Given the description of an element on the screen output the (x, y) to click on. 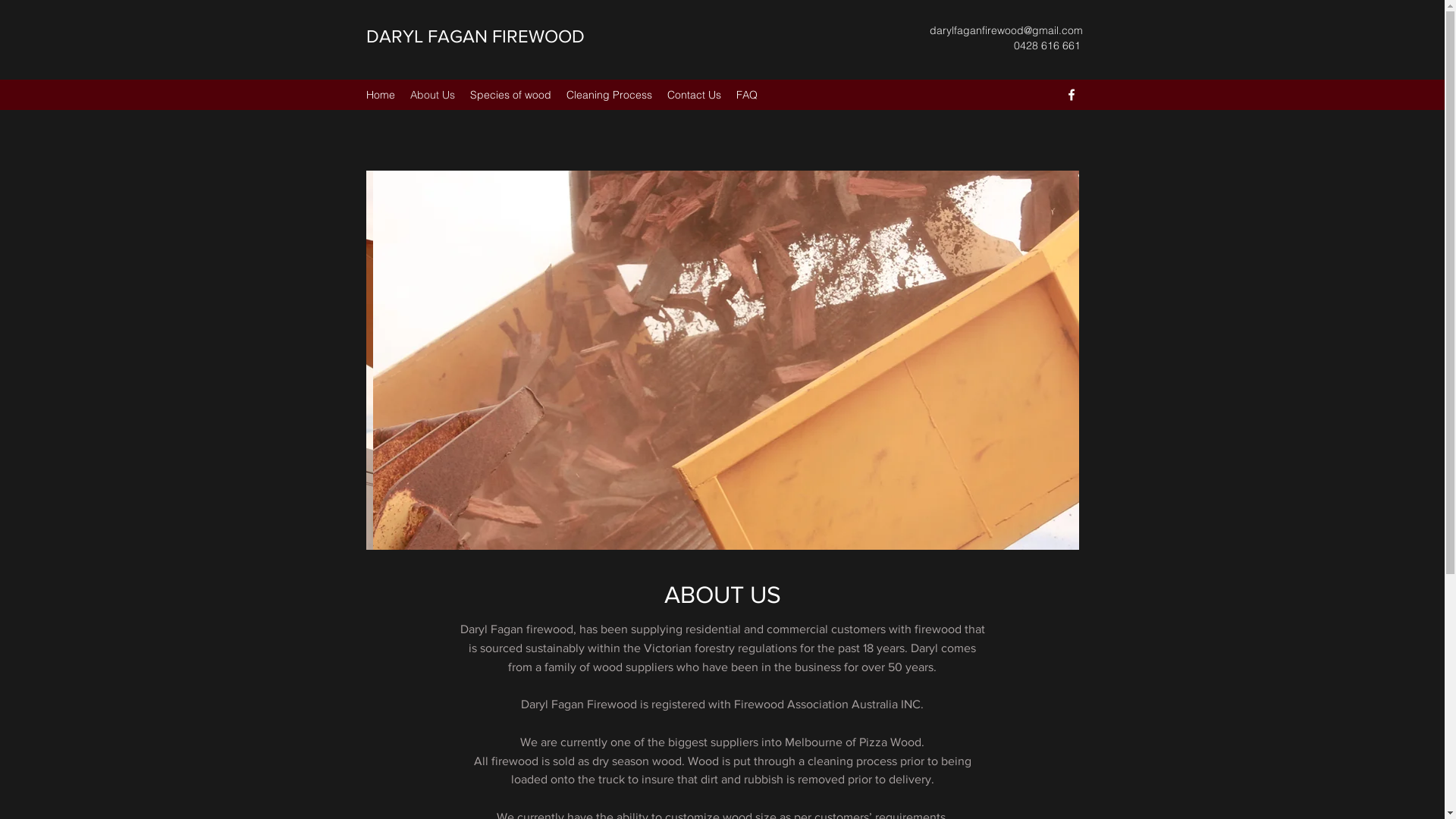
About Us Element type: text (431, 94)
Species of wood Element type: text (510, 94)
Home Element type: text (379, 94)
darylfaganfirewood@gmail.com Element type: text (1005, 30)
FAQ Element type: text (746, 94)
Cleaning Process Element type: text (608, 94)
Contact Us Element type: text (693, 94)
